Given the description of an element on the screen output the (x, y) to click on. 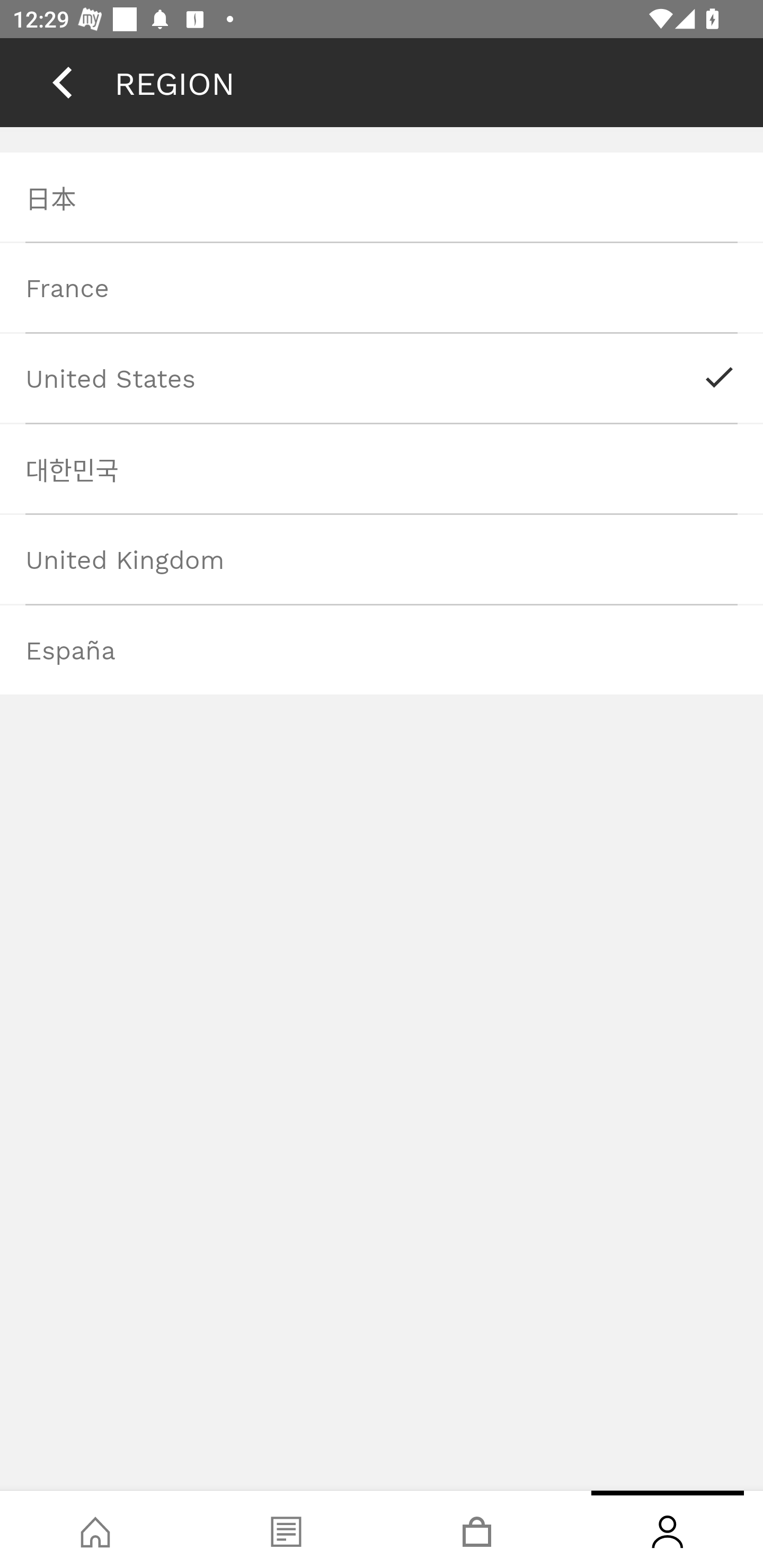
LOCATION, back (61, 82)
日本 (381, 196)
France (381, 287)
United States (381, 378)
대한민국 (381, 468)
United Kingdom (381, 558)
España (381, 649)
Shop, tab, 1 of 4 (95, 1529)
Blog, tab, 2 of 4 (285, 1529)
Basket, tab, 3 of 4 (476, 1529)
Account, tab, 4 of 4 (667, 1529)
